Given the description of an element on the screen output the (x, y) to click on. 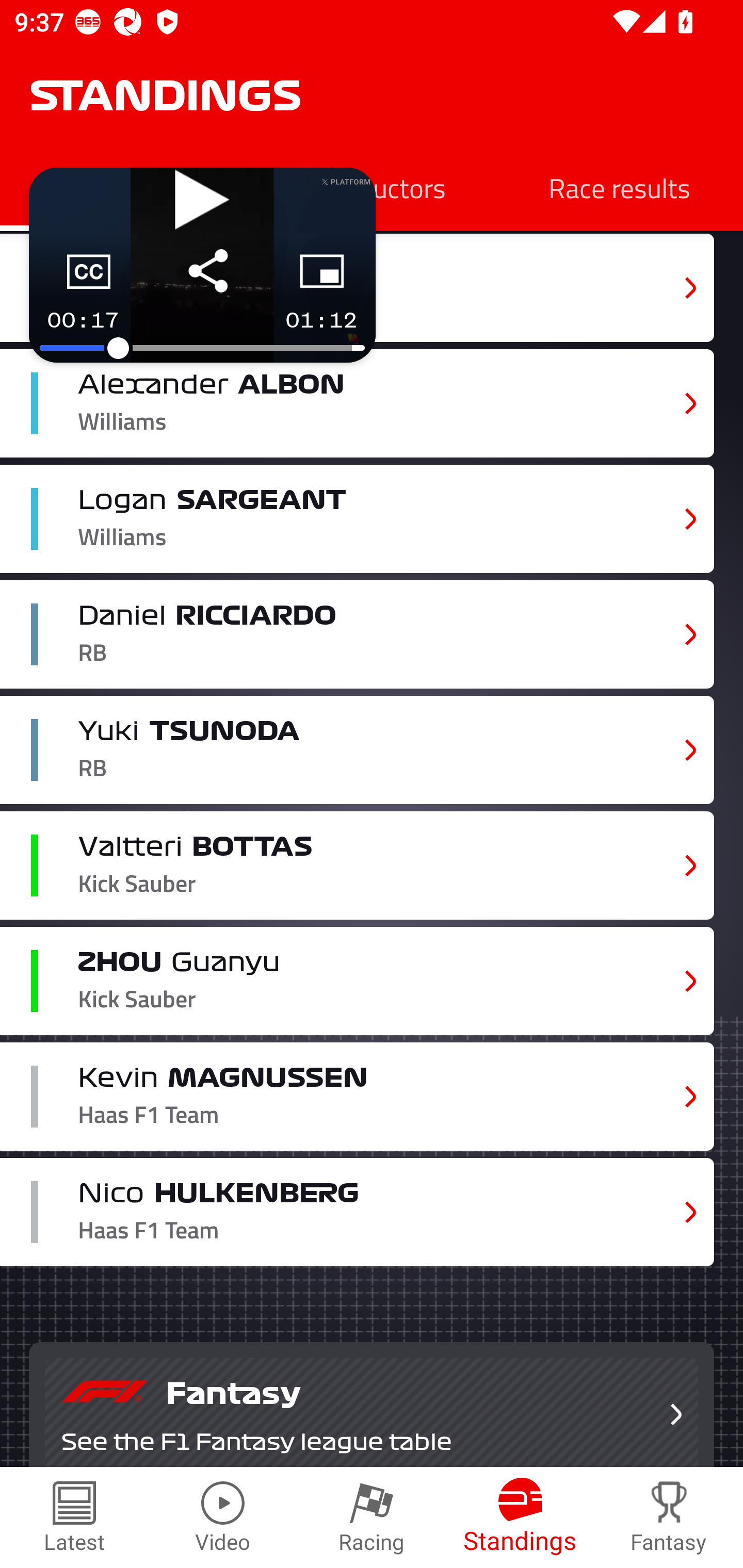
Race results (619, 187)
Alexander ALBON Williams (357, 403)
Logan SARGEANT Williams (357, 518)
Daniel RICCIARDO RB (357, 634)
Yuki TSUNODA RB (357, 750)
Valtteri BOTTAS Kick Sauber (357, 865)
ZHOU Guanyu Kick Sauber (357, 980)
Kevin MAGNUSSEN Haas F1 Team (357, 1096)
Nico HULKENBERG Haas F1 Team (357, 1211)
Fantasy See the F1 Fantasy league table (371, 1404)
Latest (74, 1517)
Video (222, 1517)
Racing (371, 1517)
Fantasy (668, 1517)
